Given the description of an element on the screen output the (x, y) to click on. 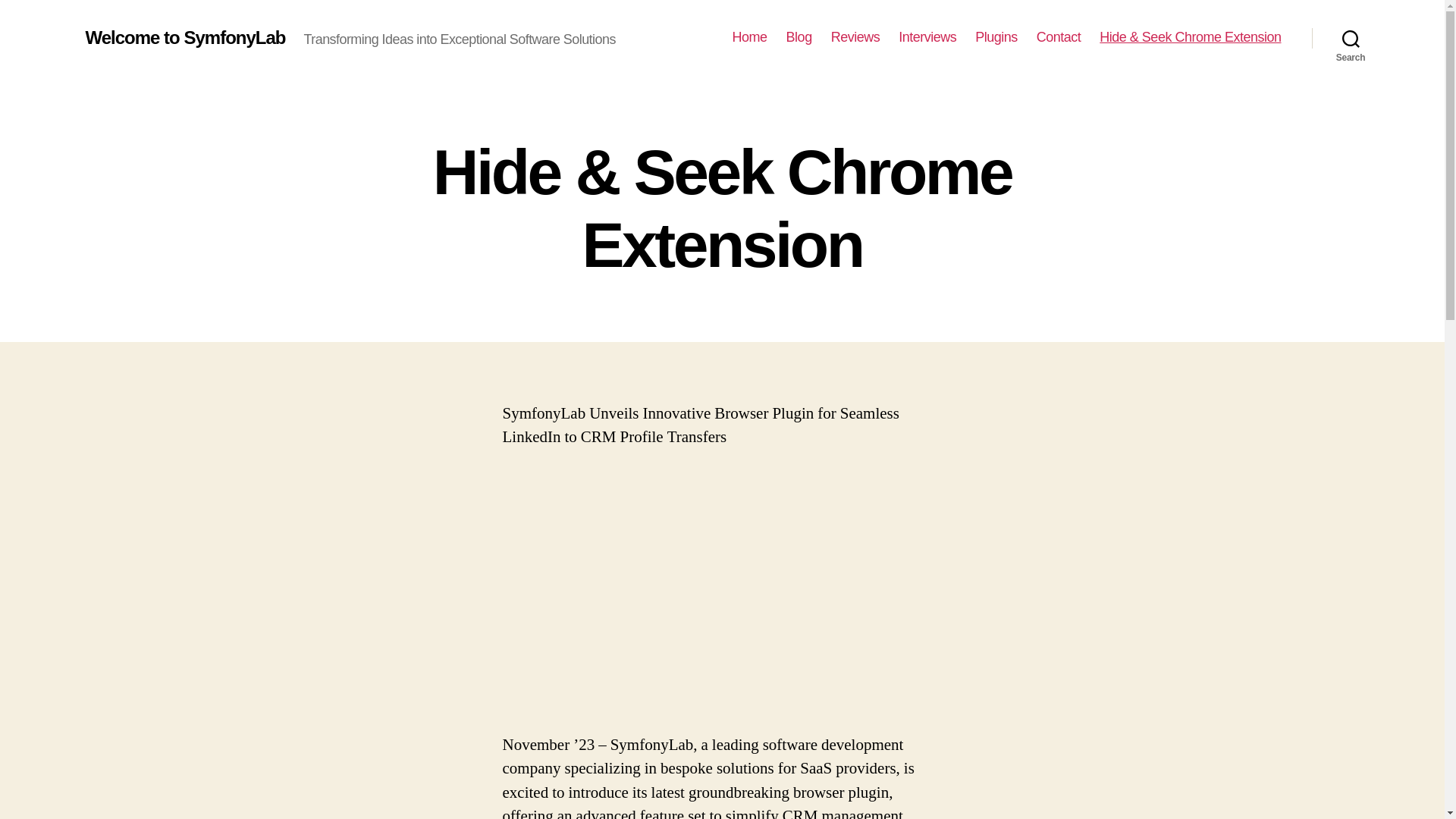
Plugins (996, 37)
Reviews (855, 37)
Blog (799, 37)
Search (1350, 37)
Contact (1058, 37)
Home (749, 37)
Welcome to SymfonyLab (184, 37)
Interviews (927, 37)
